Given the description of an element on the screen output the (x, y) to click on. 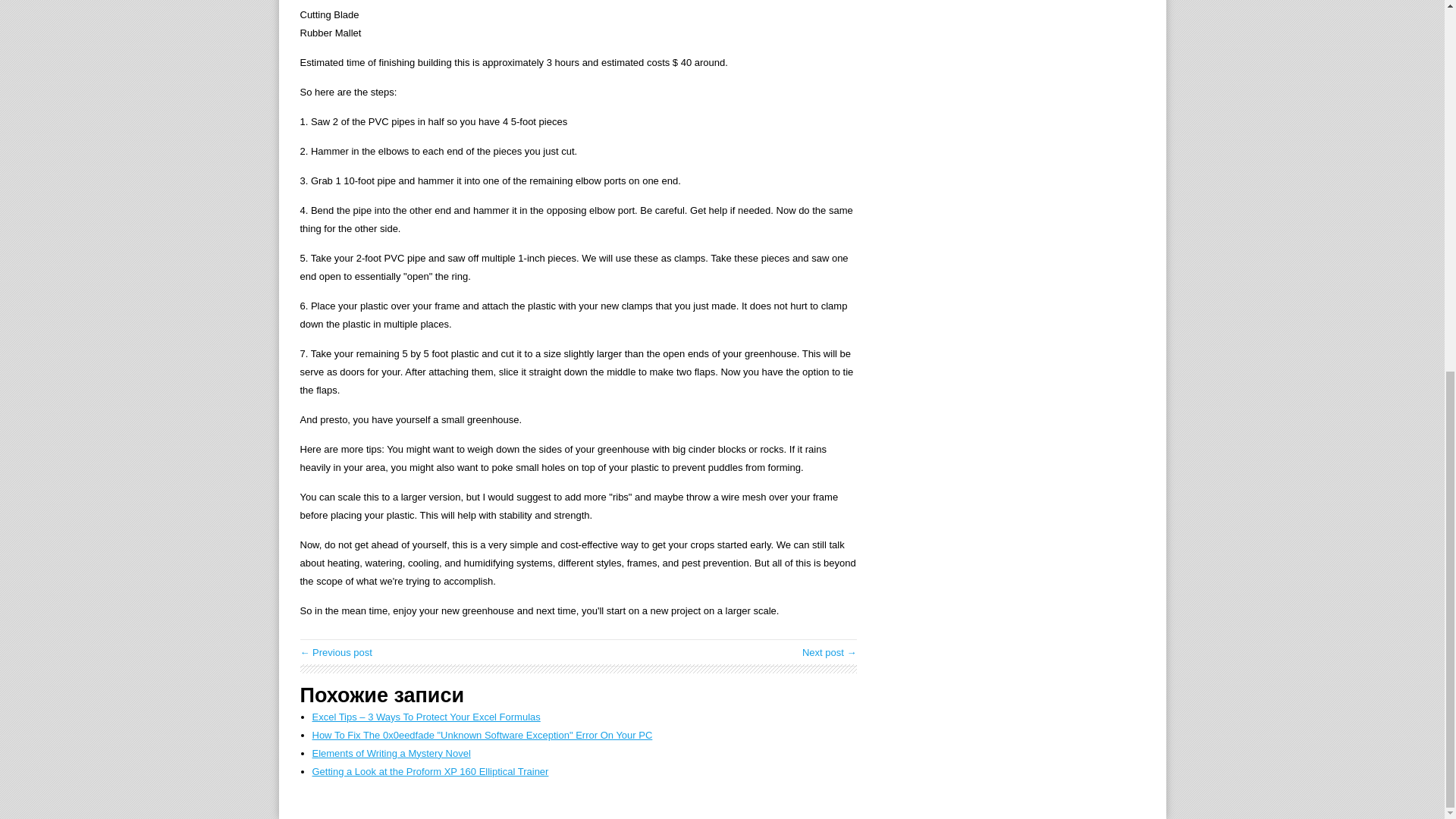
Elements of Writing a Mystery Novel (391, 753)
Useful Information on Veneer Brick (335, 652)
Fireplace Designs (829, 652)
Getting a Look at the Proform XP 160 Elliptical Trainer (430, 771)
